Given the description of an element on the screen output the (x, y) to click on. 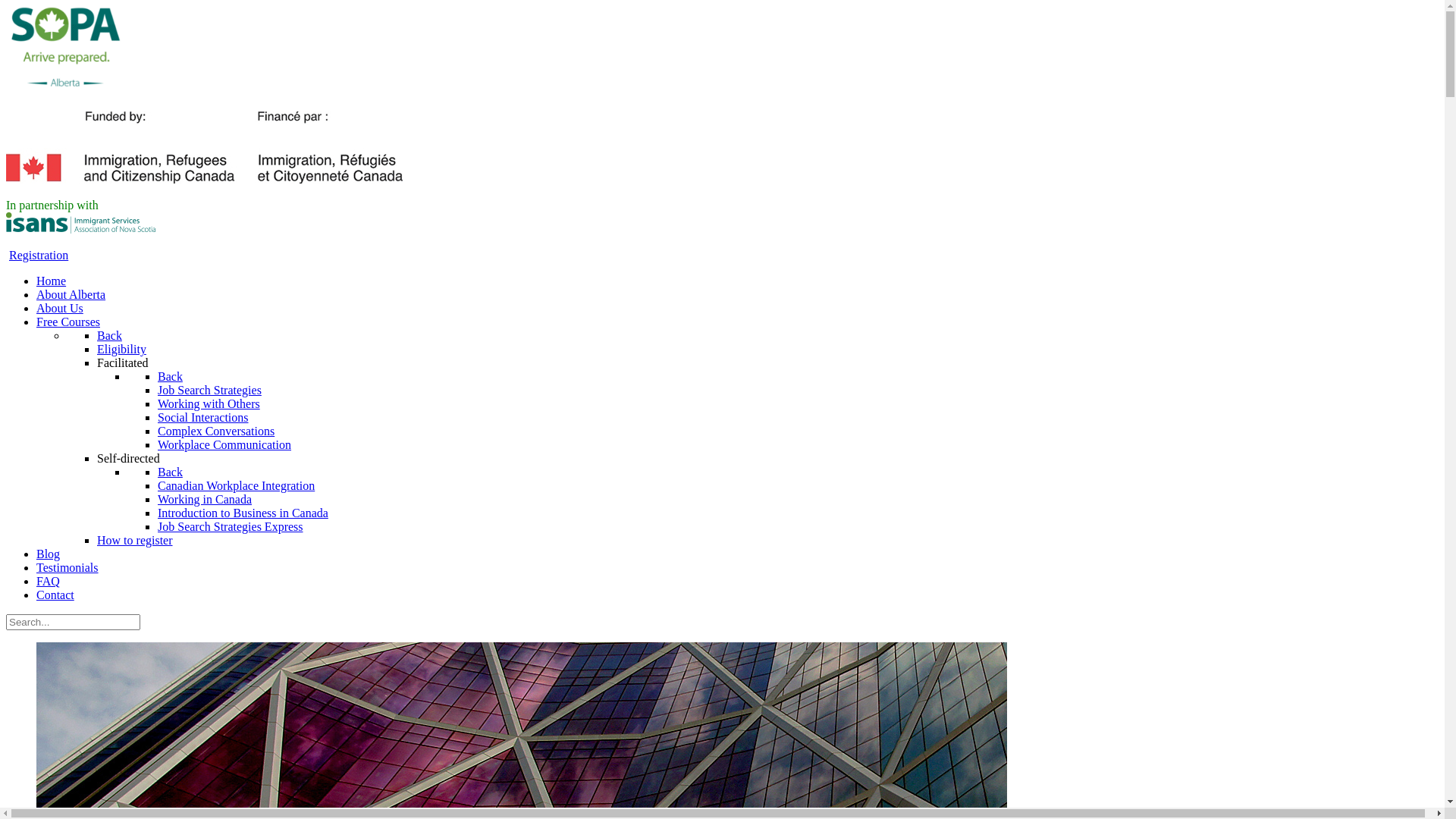
Working in Canada Element type: text (204, 498)
Contact Element type: text (55, 594)
How to register Element type: text (134, 539)
FAQ Element type: text (47, 580)
About Us Element type: text (59, 307)
Job Search Strategies Express Element type: text (230, 526)
Back Element type: text (109, 335)
Introduction to Business in Canada Element type: text (242, 512)
Blog Element type: text (47, 553)
Testimonials Element type: text (67, 567)
Complex Conversations Element type: text (215, 430)
Registration Element type: text (38, 254)
Social Interactions Element type: text (202, 417)
Back Element type: text (169, 471)
About Alberta Element type: text (70, 294)
Eligibility Element type: text (121, 348)
Job Search Strategies Element type: text (209, 389)
Working with Others Element type: text (208, 403)
Back Element type: text (169, 376)
Workplace Communication Element type: text (224, 444)
Free Courses Element type: text (68, 321)
Canadian Workplace Integration Element type: text (235, 485)
Home Element type: text (50, 280)
